Given the description of an element on the screen output the (x, y) to click on. 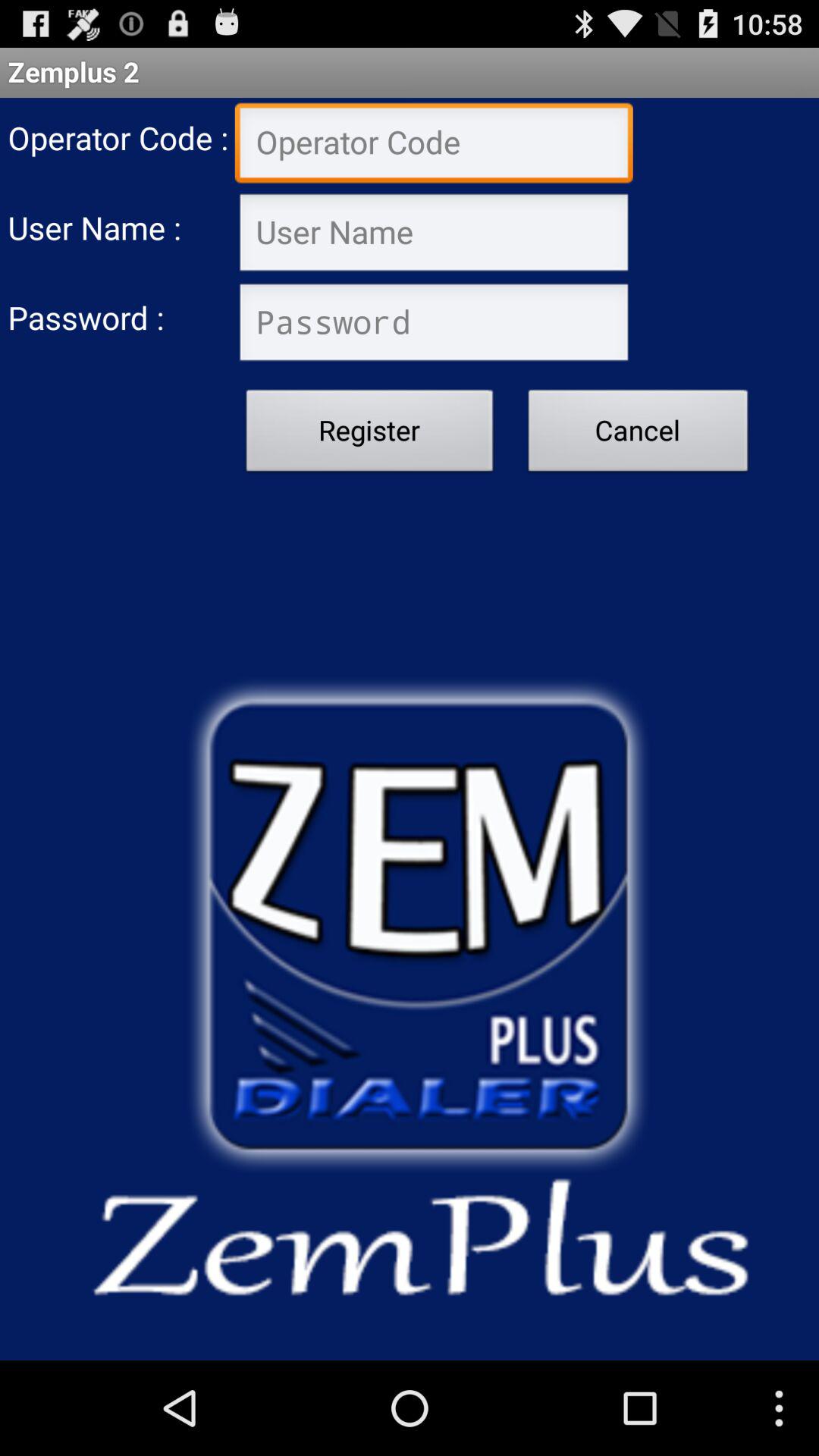
text box to enter operator code (433, 144)
